Given the description of an element on the screen output the (x, y) to click on. 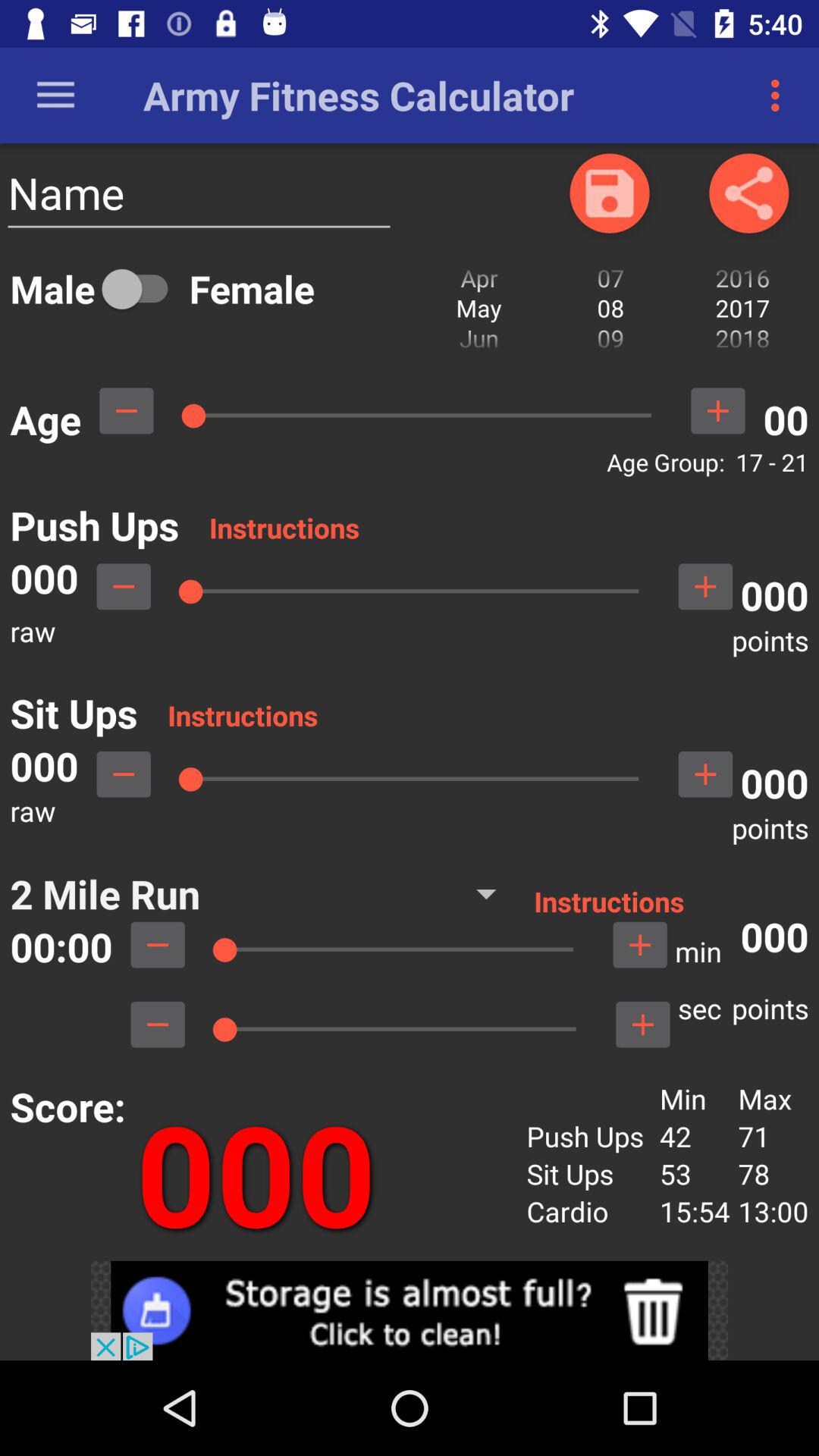
visit sponsor advertisement (409, 1310)
